Given the description of an element on the screen output the (x, y) to click on. 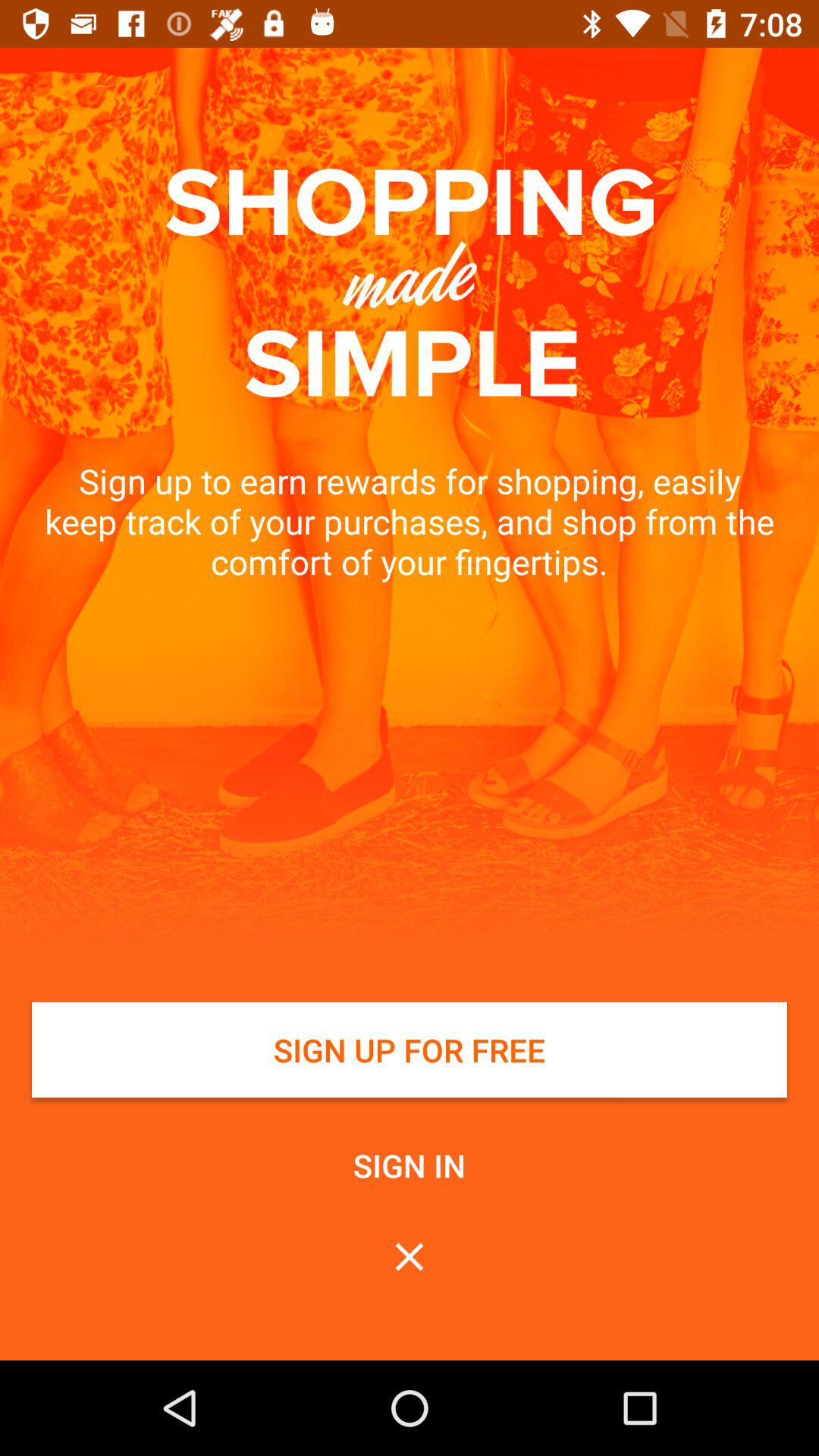
click on the sign in button (409, 1165)
button above sign in button (409, 1061)
select the box below sign in (409, 1257)
click on white button at bottom of page (409, 1050)
